Given the description of an element on the screen output the (x, y) to click on. 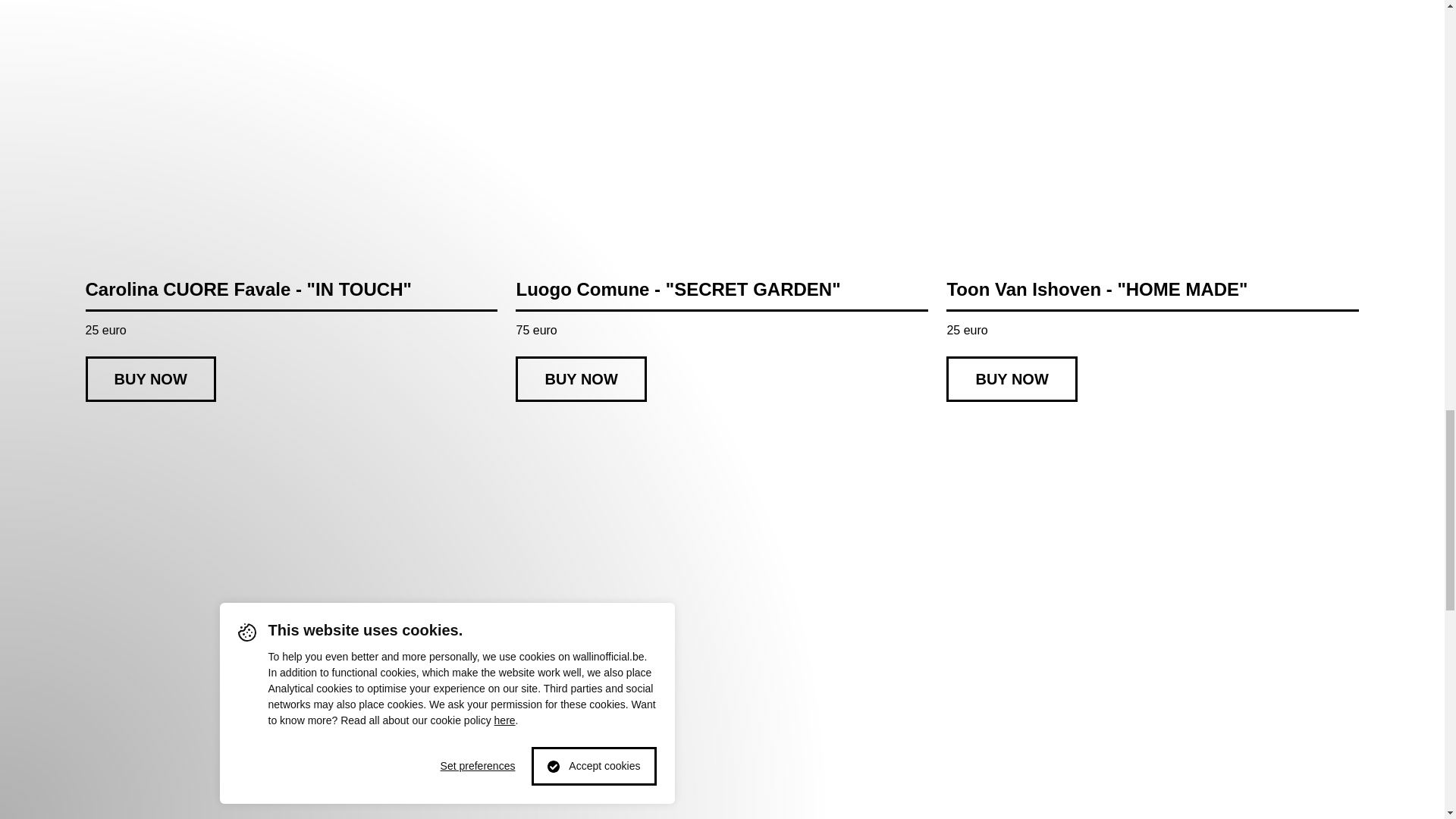
Toon Van Ishoven - "HOME MADE" (1152, 295)
BUY NOW (580, 379)
BUY NOW (149, 379)
BUY NOW (1011, 379)
Carolina CUORE Favale - "IN TOUCH" (290, 295)
Luogo Comune - "SECRET GARDEN" (721, 295)
